Given the description of an element on the screen output the (x, y) to click on. 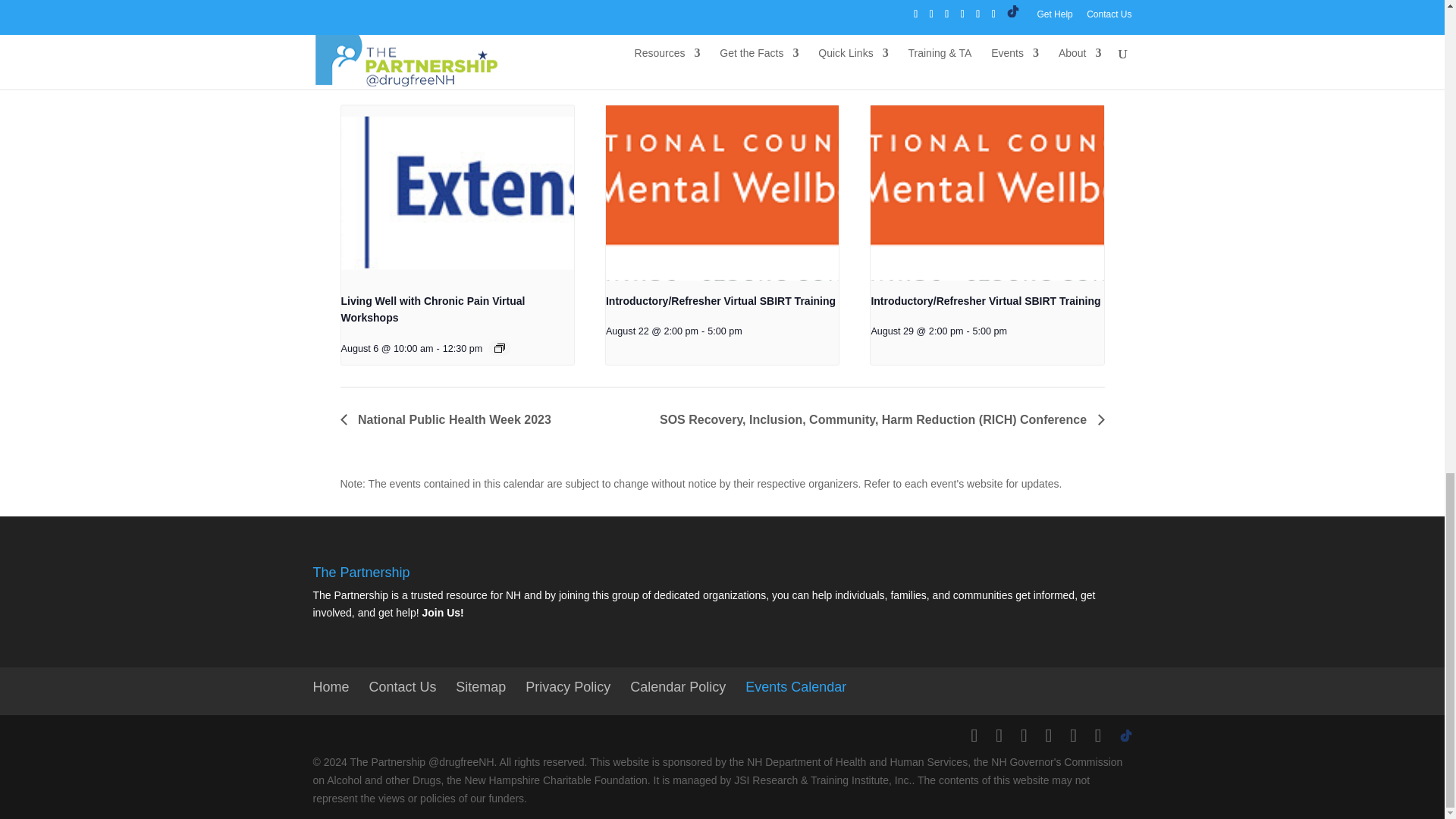
Event Series (500, 347)
